Given the description of an element on the screen output the (x, y) to click on. 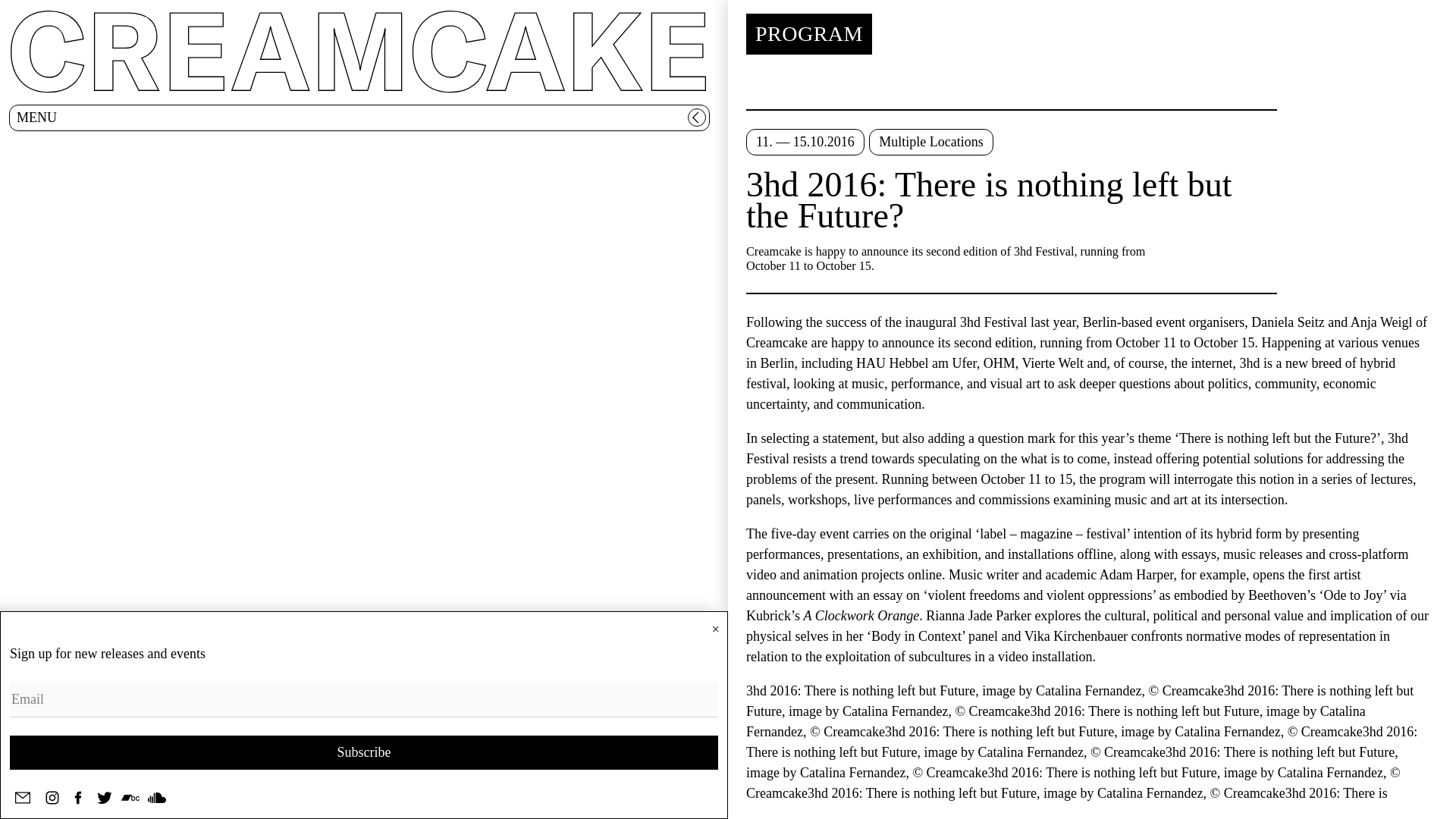
violent freedoms and violent oppressions (1039, 595)
Subscribe (363, 752)
Subscribe (363, 752)
PROGRAM (808, 33)
